Given the description of an element on the screen output the (x, y) to click on. 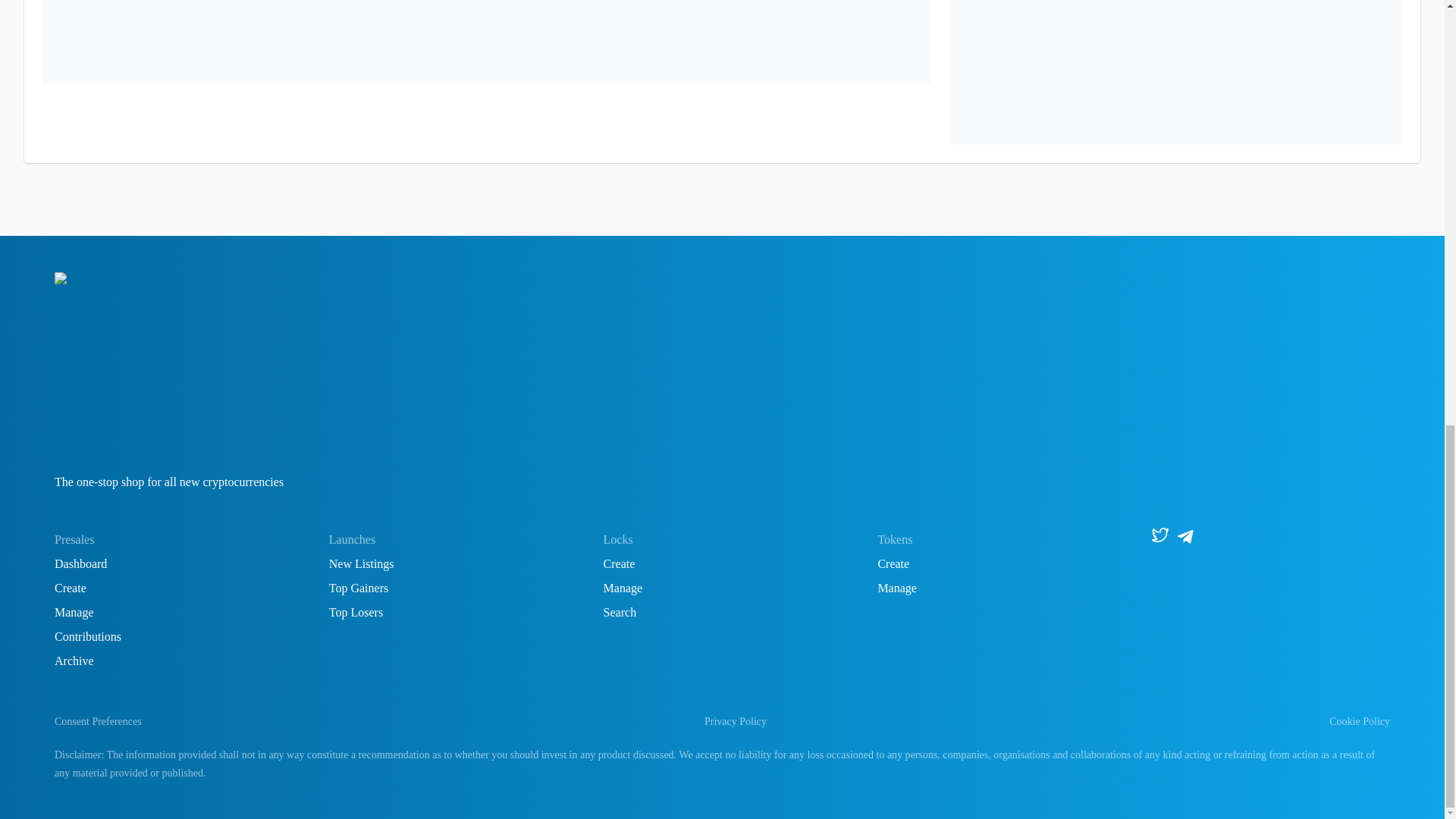
Top Gainers (358, 587)
Search (620, 612)
Privacy Policy (735, 721)
Top Losers (355, 612)
Dashboard (80, 563)
Create (619, 563)
Create (70, 587)
New Listings (361, 563)
Create (892, 563)
Consent Preferences (98, 721)
